Given the description of an element on the screen output the (x, y) to click on. 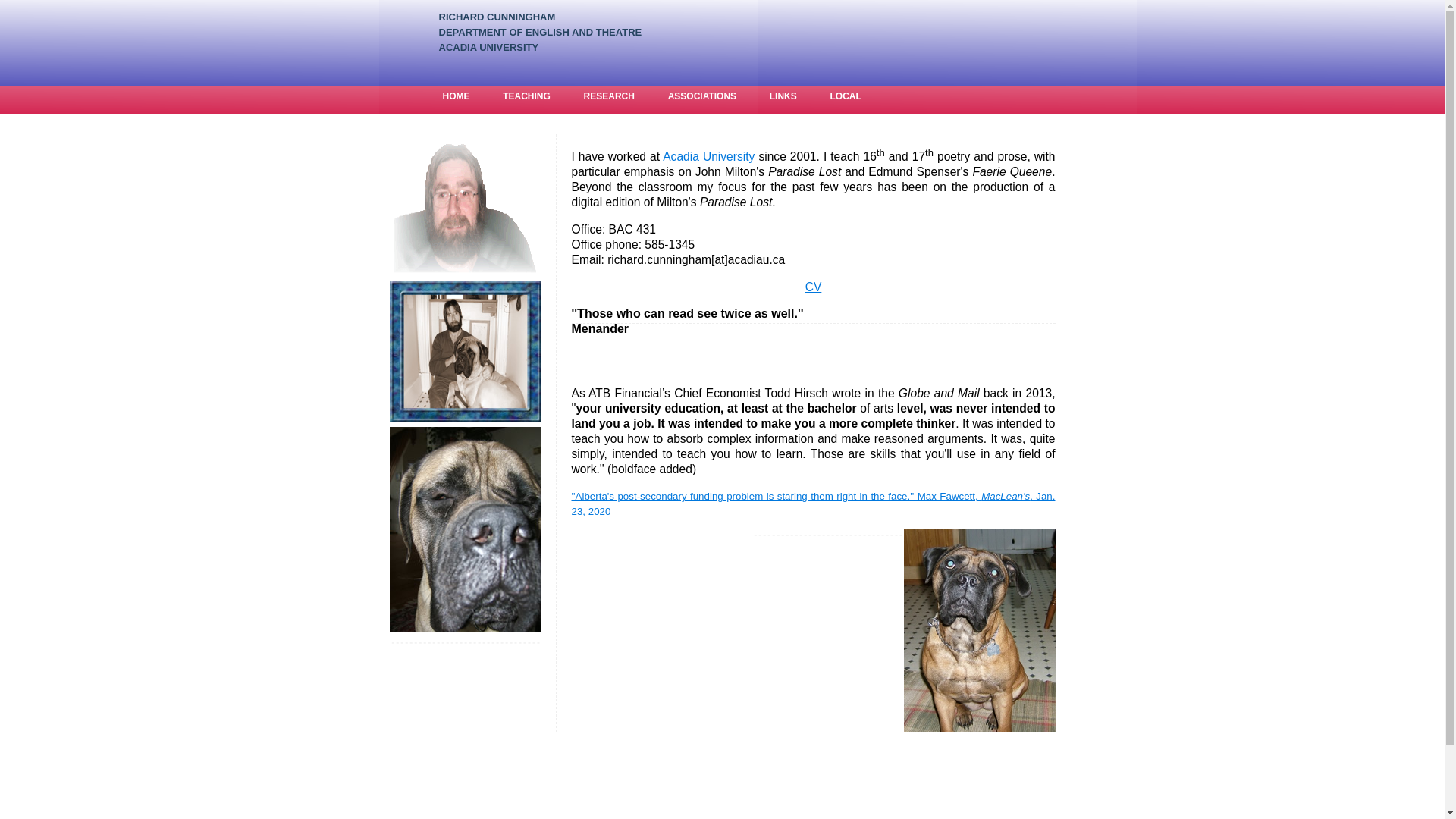
TEACHING Element type: text (526, 96)
LINKS Element type: text (783, 96)
Acadia University Element type: text (708, 156)
RESEARCH Element type: text (608, 96)
ASSOCIATIONS Element type: text (701, 96)
HOME Element type: text (456, 96)
LOCAL Element type: text (844, 96)
CV Element type: text (813, 286)
